Given the description of an element on the screen output the (x, y) to click on. 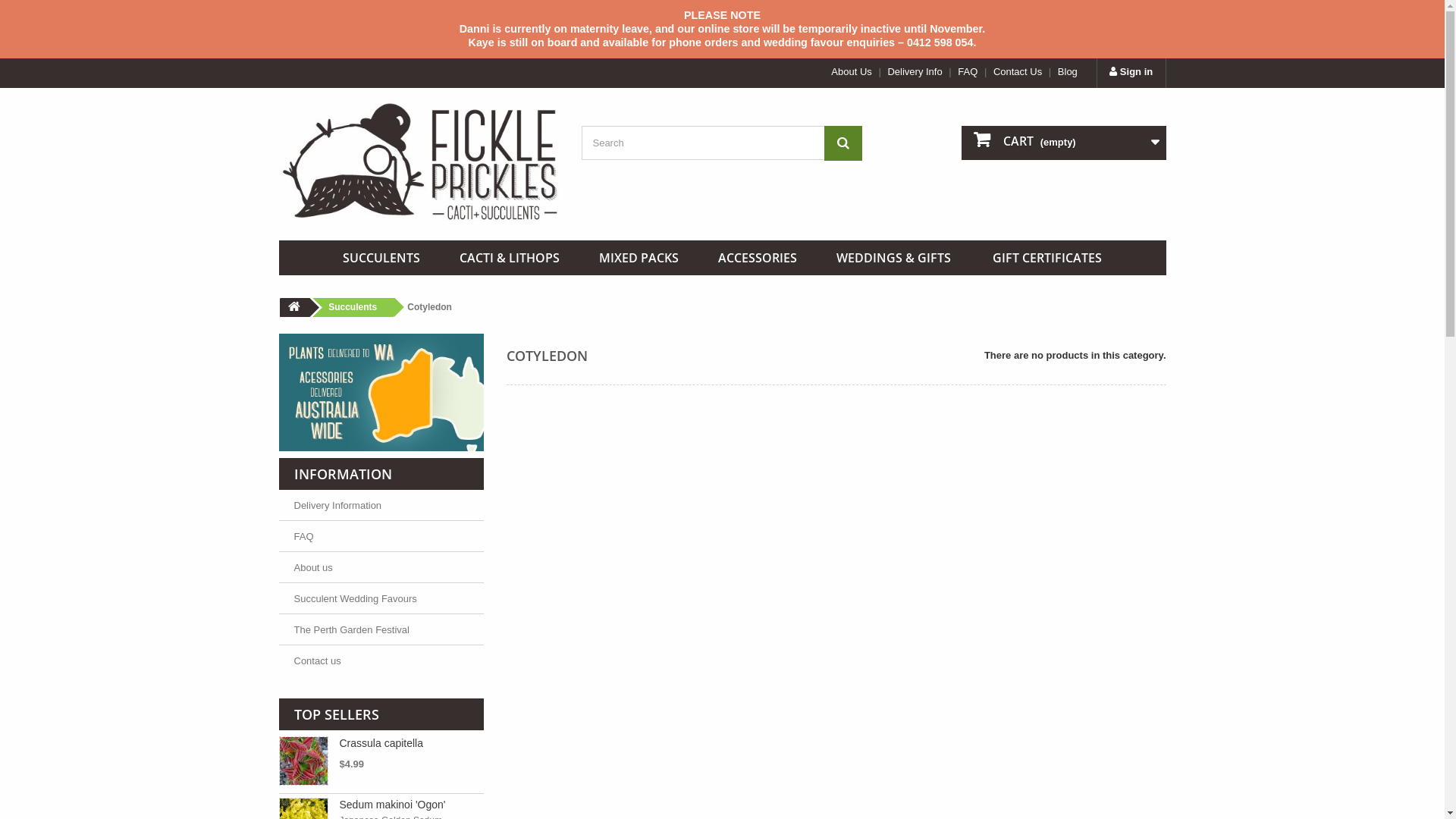
FAQ Element type: text (967, 71)
Return to Home Element type: hover (293, 307)
Fickle Prickles Element type: hover (419, 160)
Crassula capitella Element type: text (381, 743)
Delivery Info Element type: text (914, 71)
SUCCULENTS Element type: text (381, 257)
Sign in Element type: text (1131, 73)
About Us Element type: text (851, 71)
GIFT CERTIFICATES Element type: text (1046, 257)
WEDDINGS & GIFTS Element type: text (893, 257)
Sedum makinoi 'Ogon' Element type: text (392, 804)
Succulents Element type: text (350, 307)
CACTI & LITHOPS Element type: text (509, 257)
FAQ Element type: text (303, 536)
About us Element type: text (313, 567)
Crassula capitella Element type: hover (303, 760)
Delivery Information Element type: text (338, 505)
MIXED PACKS Element type: text (638, 257)
Blog Element type: text (1067, 71)
TOP SELLERS Element type: text (336, 714)
The Perth Garden Festival Element type: text (351, 629)
Contact us Element type: text (317, 660)
Contact Us Element type: text (1017, 71)
Succulent Wedding Favours Element type: text (355, 598)
CART (empty) Element type: text (1063, 142)
ACCESSORIES Element type: text (757, 257)
